Given the description of an element on the screen output the (x, y) to click on. 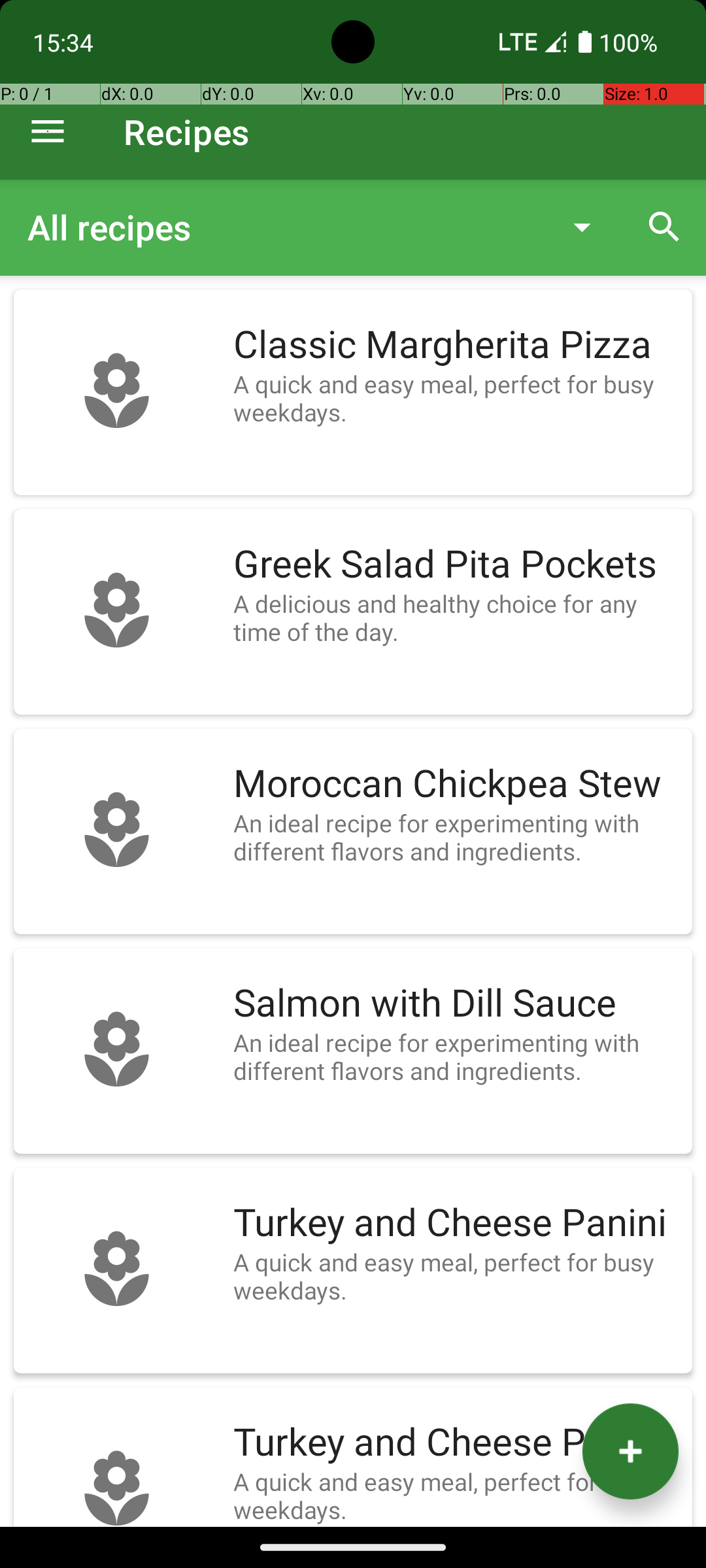
Salmon with Dill Sauce Element type: android.widget.TextView (455, 1003)
Turkey and Cheese Panini Element type: android.widget.TextView (455, 1222)
